Given the description of an element on the screen output the (x, y) to click on. 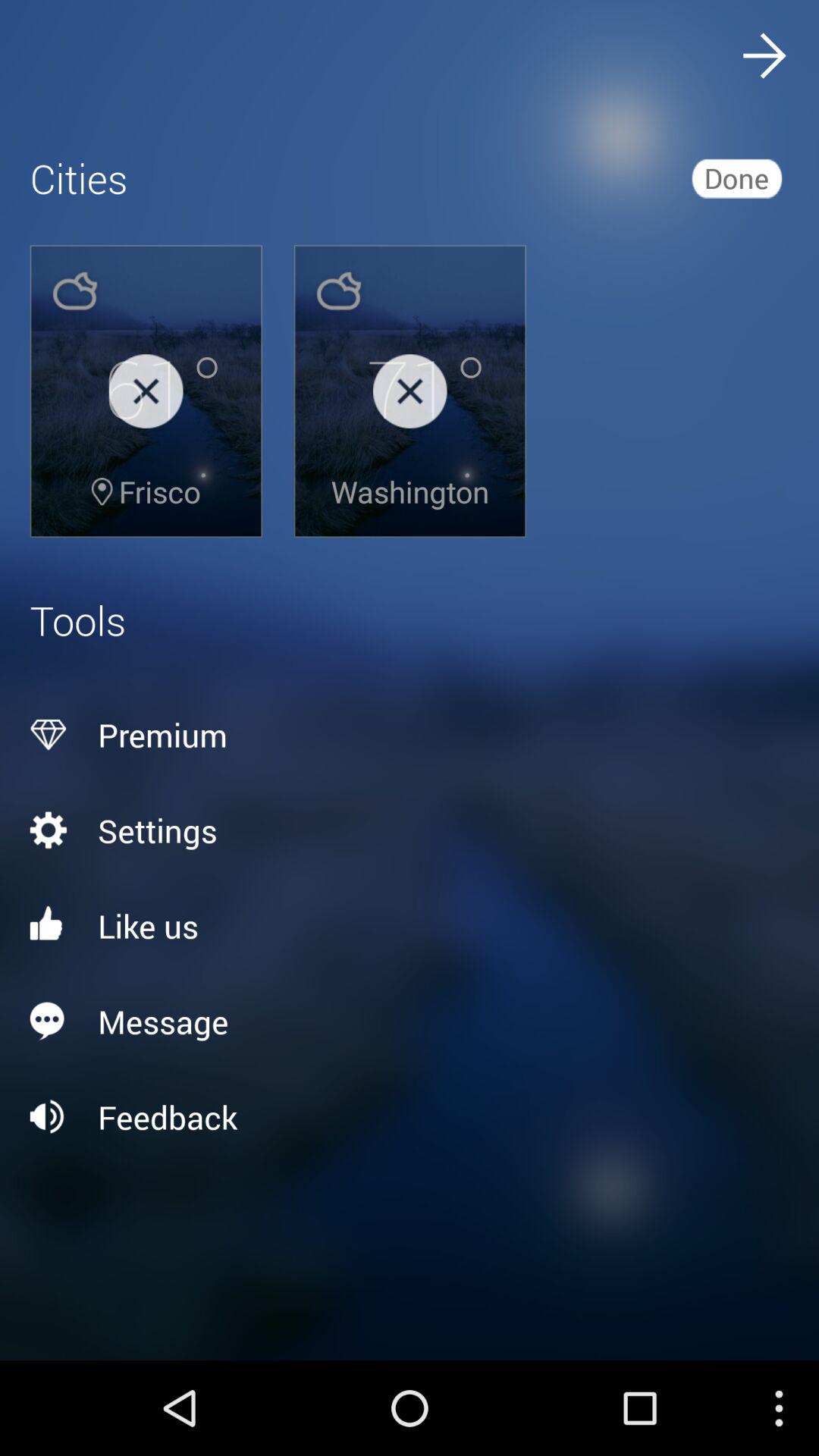
flip to settings icon (409, 830)
